Given the description of an element on the screen output the (x, y) to click on. 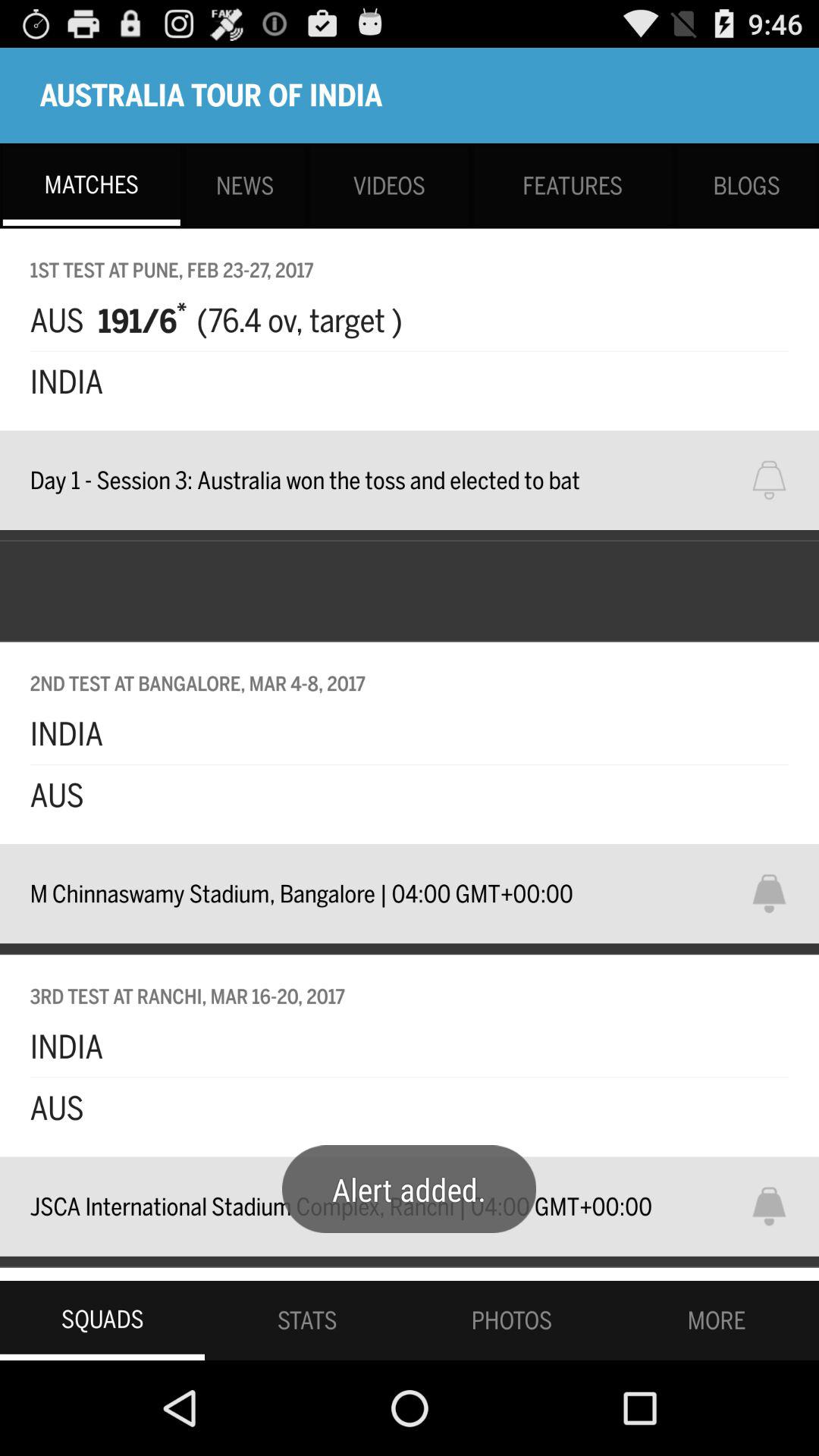
notification bell (778, 480)
